Given the description of an element on the screen output the (x, y) to click on. 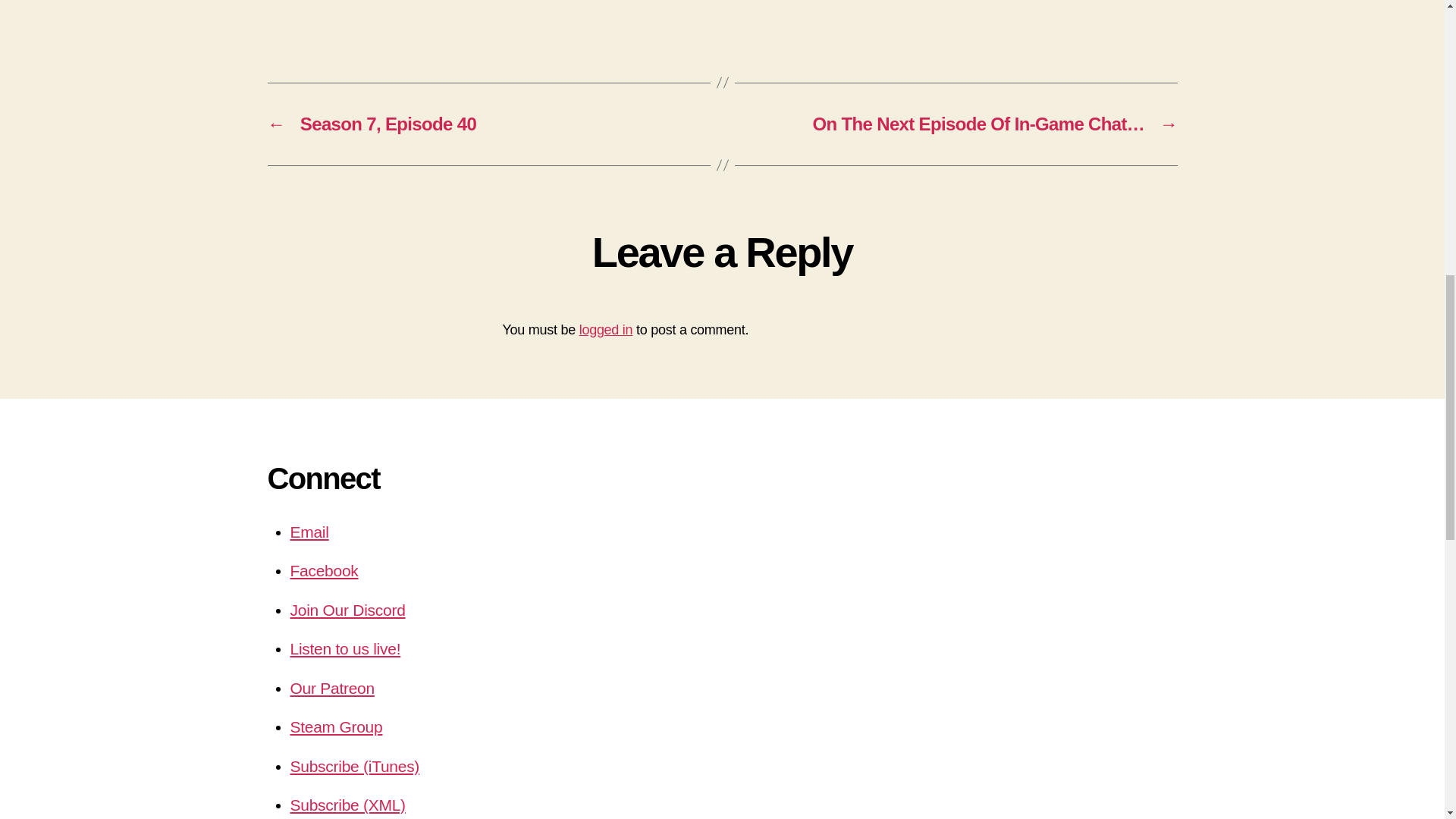
Steam Group (335, 726)
Listen to us live! (344, 648)
Email (309, 531)
Send the hosts an email. (309, 531)
Subscribe to the In-Game Chat podcast using iTunes. (354, 765)
Join Our Discord (346, 610)
Subscribe to the In-Game Chat podcast. (346, 805)
Connect with us on Facebook. (323, 570)
Our Patreon (331, 687)
logged in (606, 329)
Facebook (323, 570)
Click Here To Support Us (331, 687)
Come play with us and our listeners. (335, 726)
Listen Live Saturday Evenings 4-6 CST (344, 648)
The Story So Far... (722, 11)
